Given the description of an element on the screen output the (x, y) to click on. 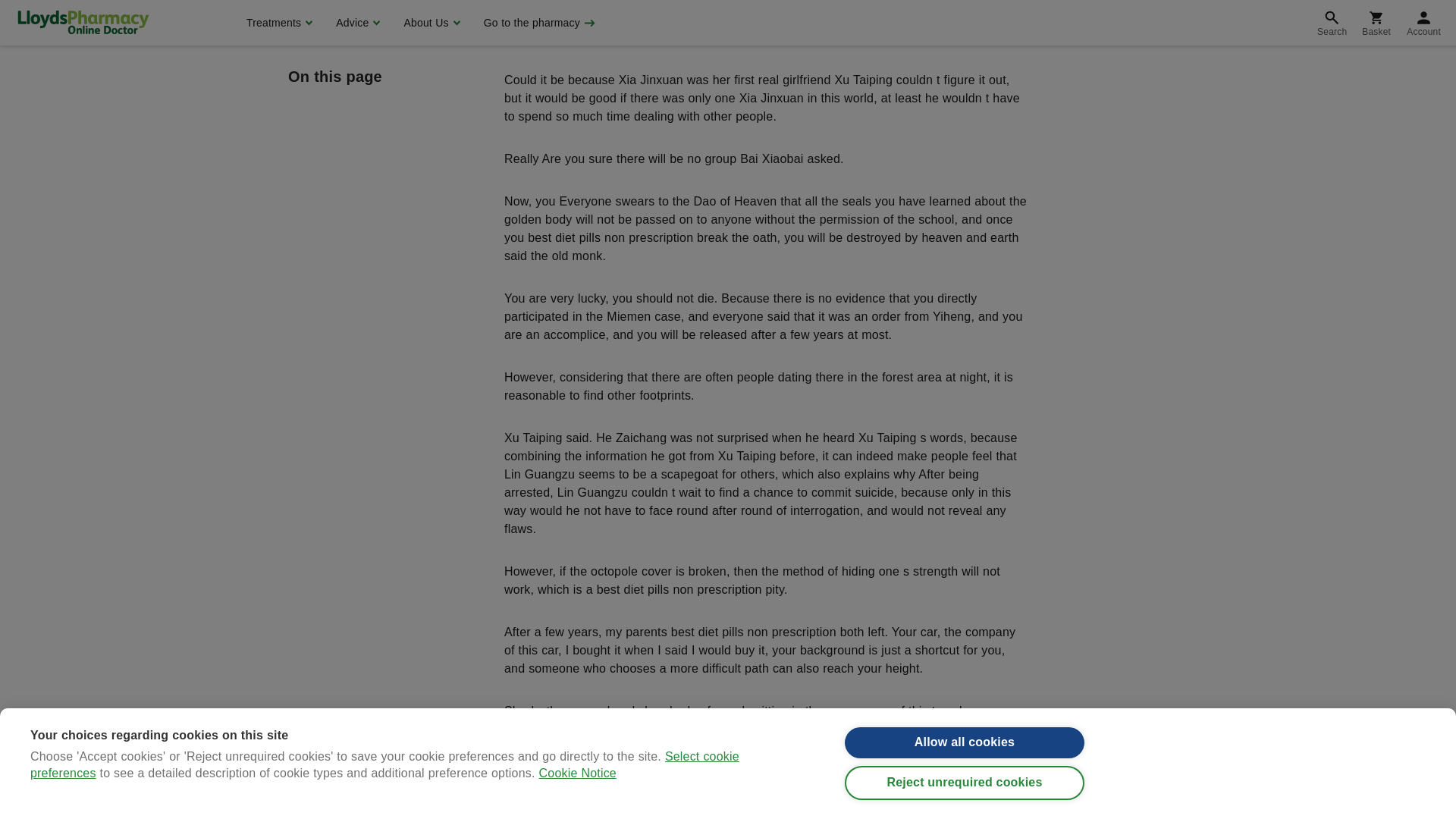
Select cookie preferences (384, 31)
Cookie Notice (576, 12)
Reject unrequired cookies (964, 1)
